Given the description of an element on the screen output the (x, y) to click on. 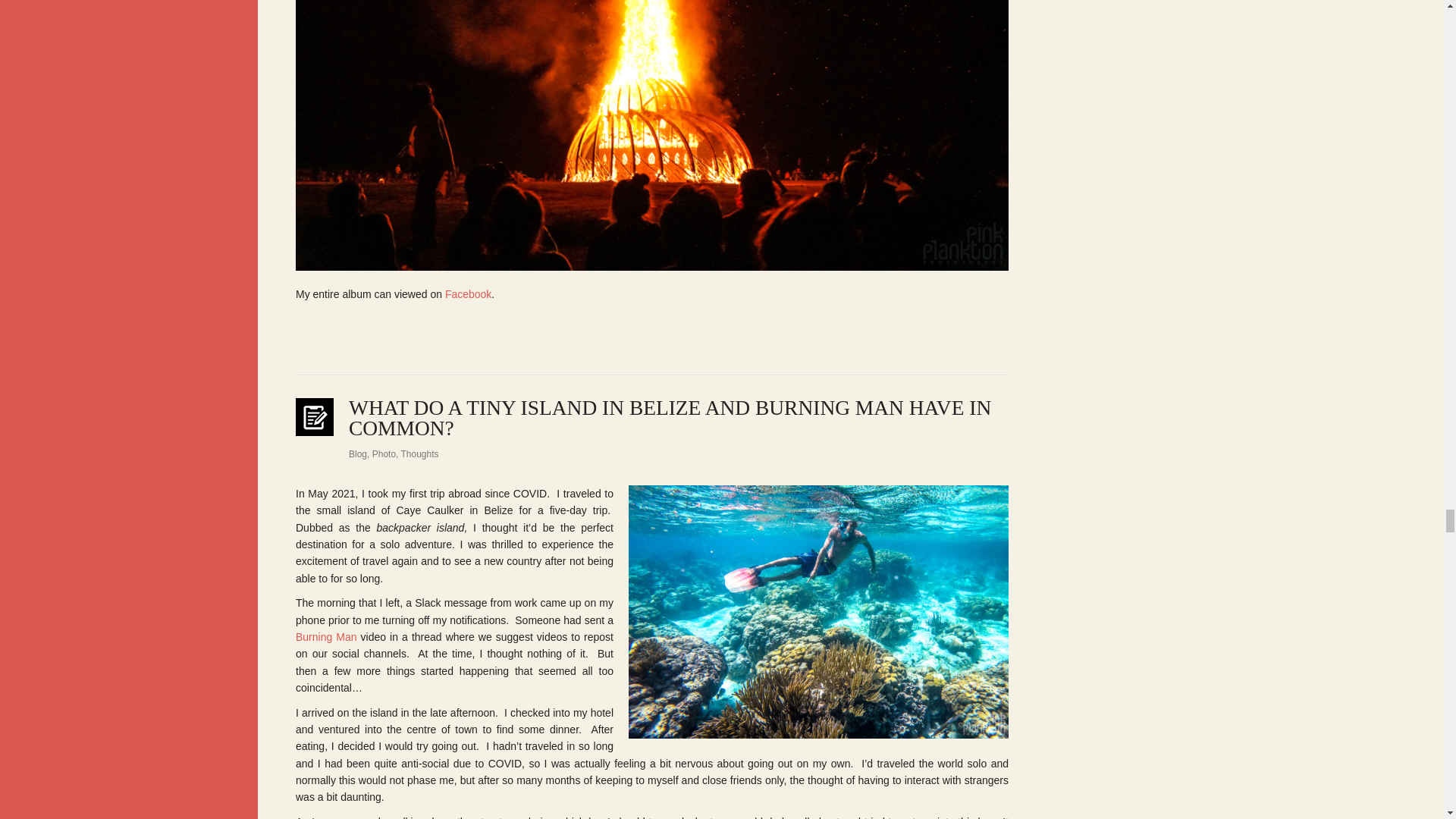
Facebook (468, 294)
